Given the description of an element on the screen output the (x, y) to click on. 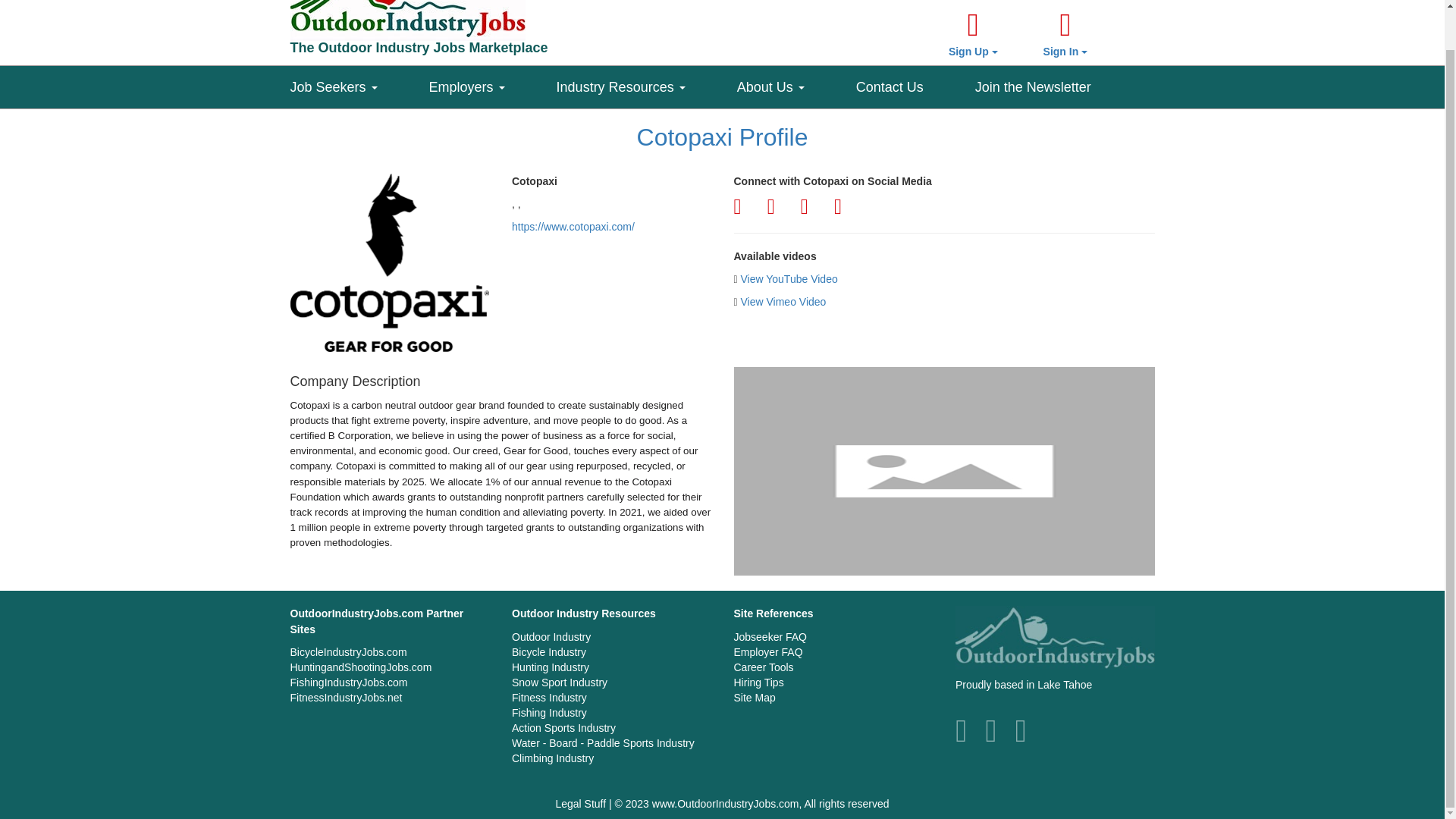
Sign In (1065, 34)
Industry Resources (646, 83)
Sign Up (973, 34)
Job Seekers (358, 83)
Employers (492, 83)
